Given the description of an element on the screen output the (x, y) to click on. 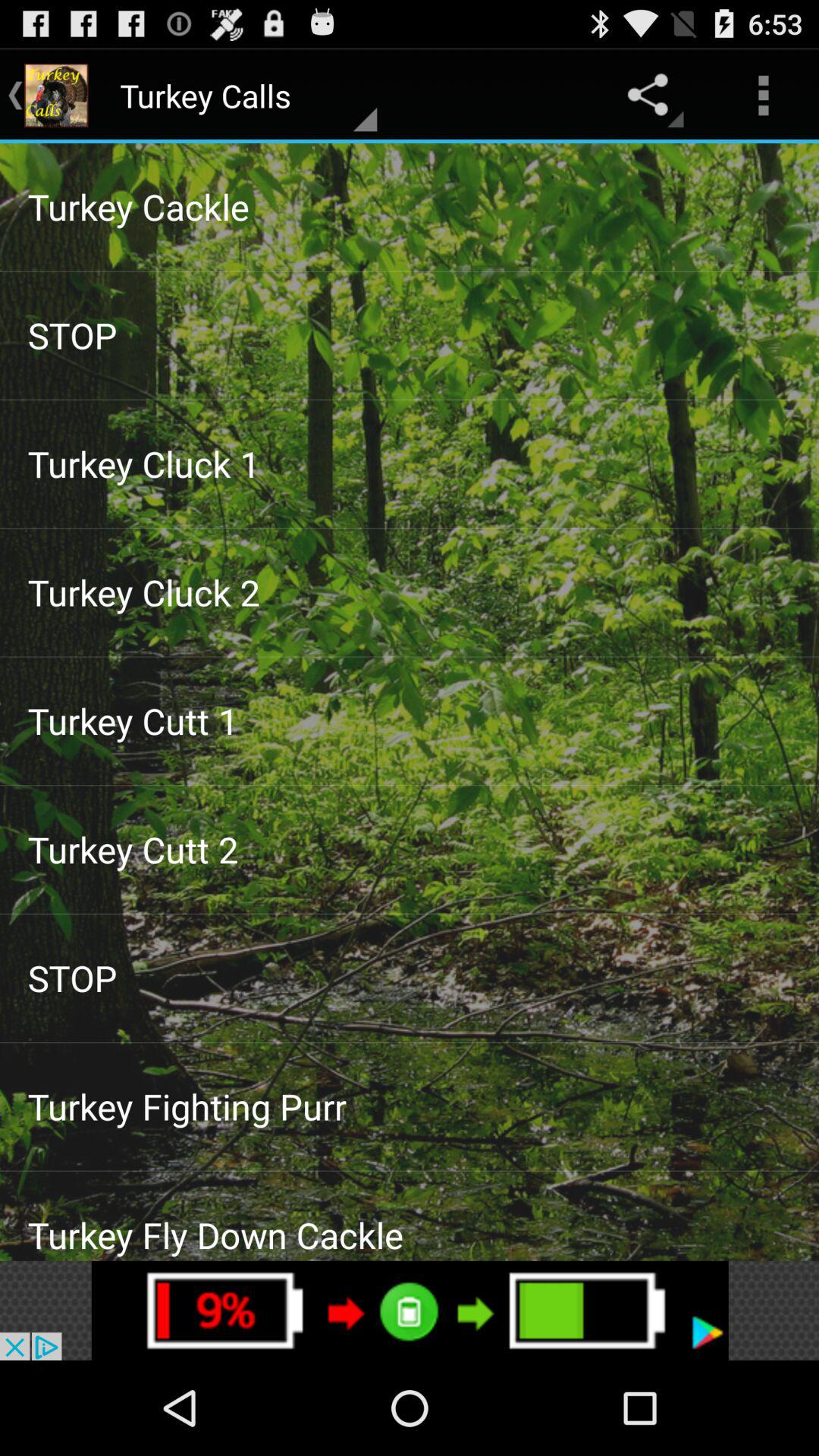
advertisement for battery improvement app (409, 1310)
